Given the description of an element on the screen output the (x, y) to click on. 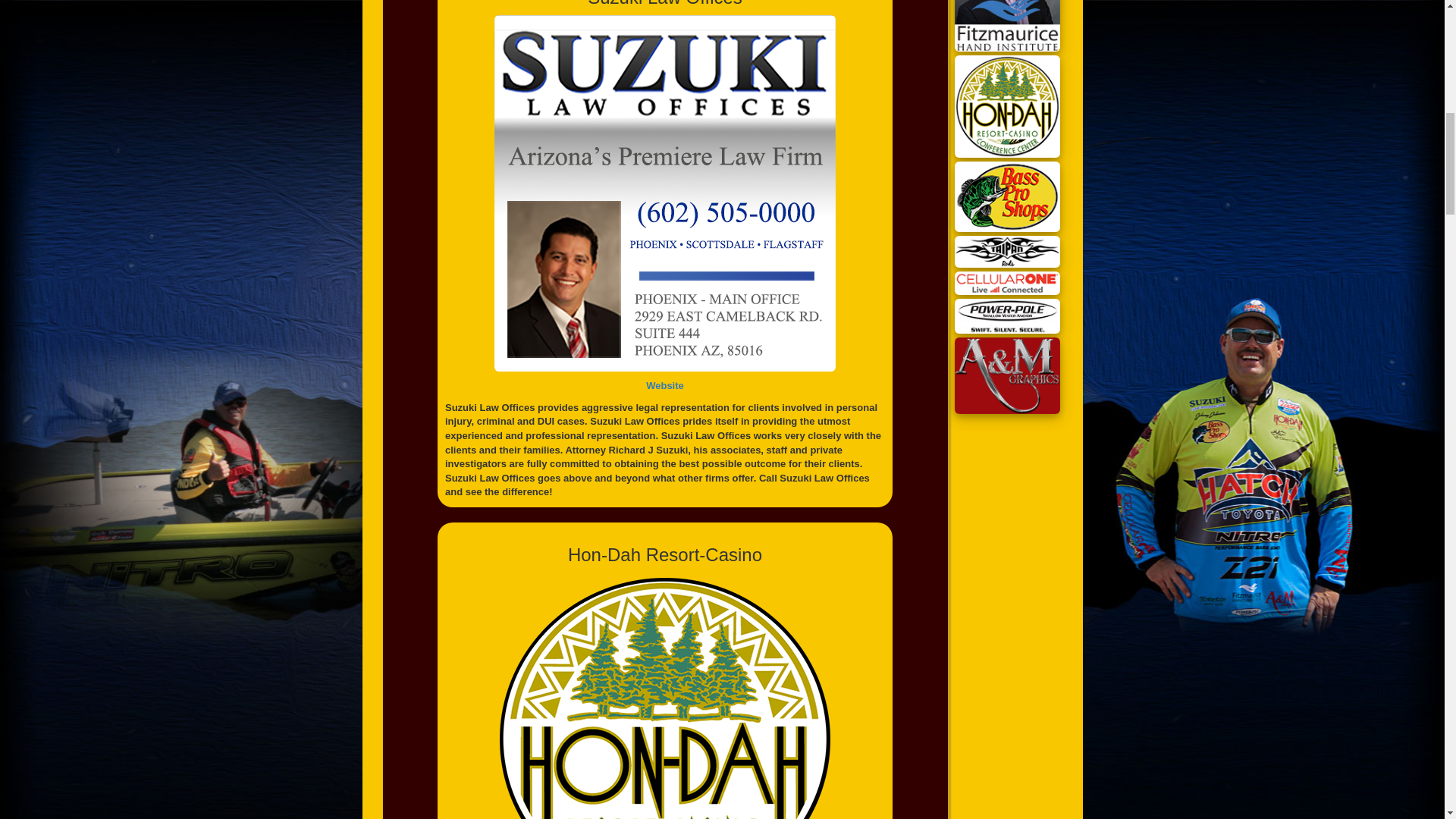
Website (665, 385)
